Given the description of an element on the screen output the (x, y) to click on. 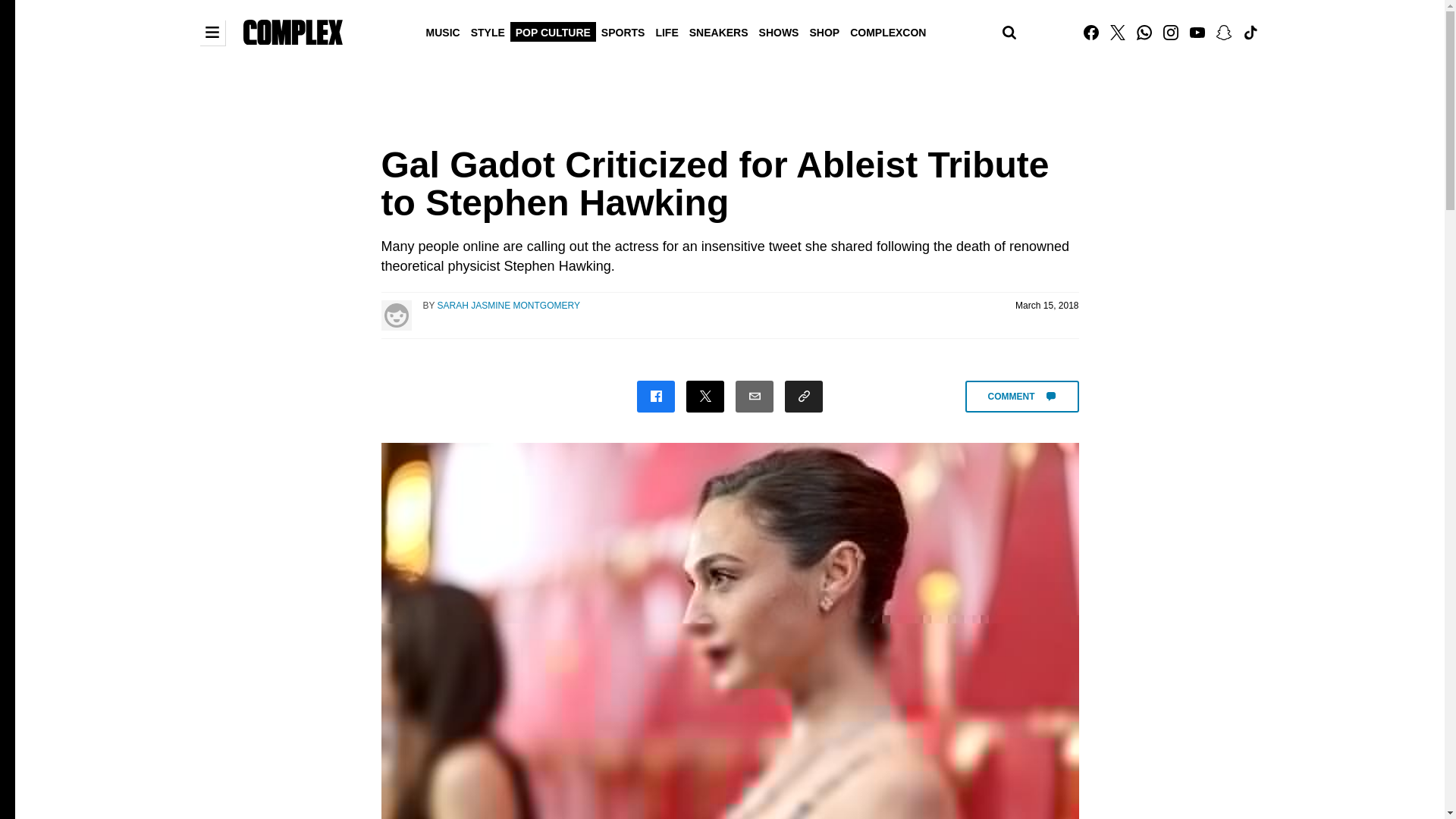
POP CULTURE (553, 30)
STYLE (488, 30)
SNEAKERS (719, 30)
SPORTS (622, 30)
LIFE (665, 30)
SHOP (823, 30)
SHOWS (779, 30)
COMPLEXCON (887, 30)
MUSIC (442, 30)
